Given the description of an element on the screen output the (x, y) to click on. 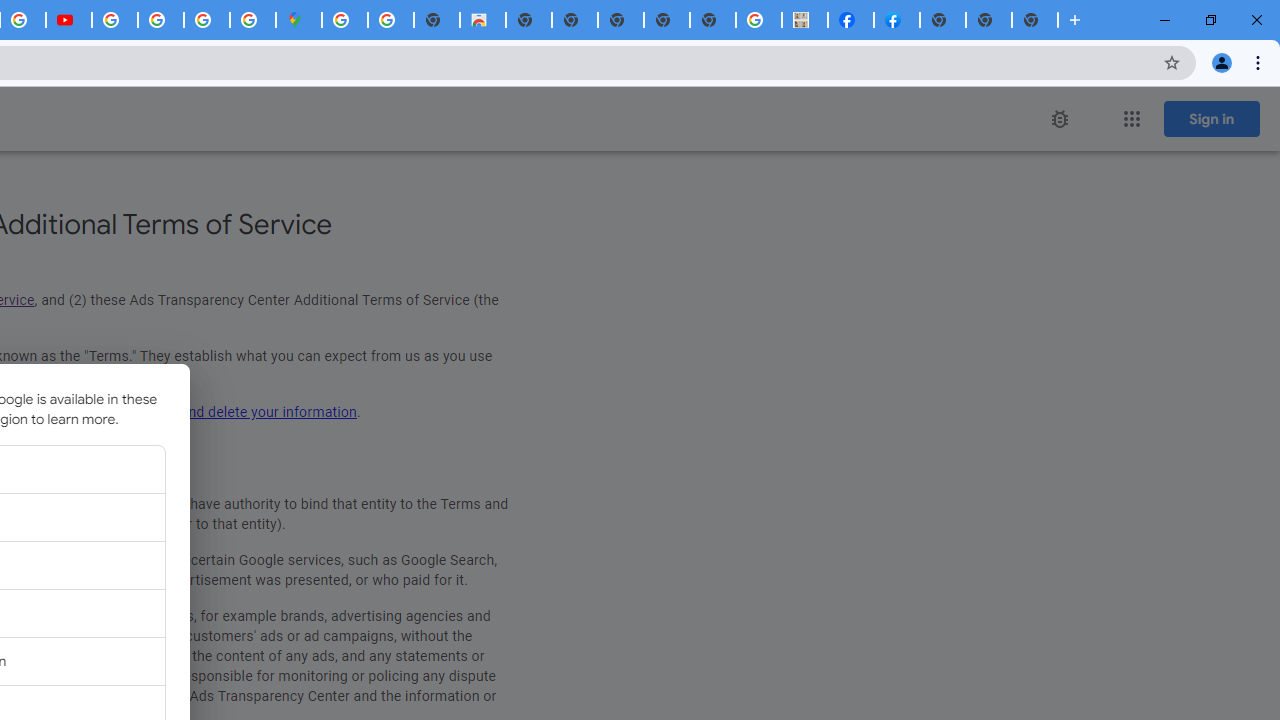
Miley Cyrus | Facebook (851, 20)
Send Bug Report (1059, 119)
update, manage, export, and delete your information (190, 412)
To get missing image descriptions, open the context menu. (1059, 119)
Chrome Web Store (482, 20)
Sign Up for Facebook (897, 20)
Subscriptions - YouTube (69, 20)
MILEY CYRUS. (805, 20)
